Given the description of an element on the screen output the (x, y) to click on. 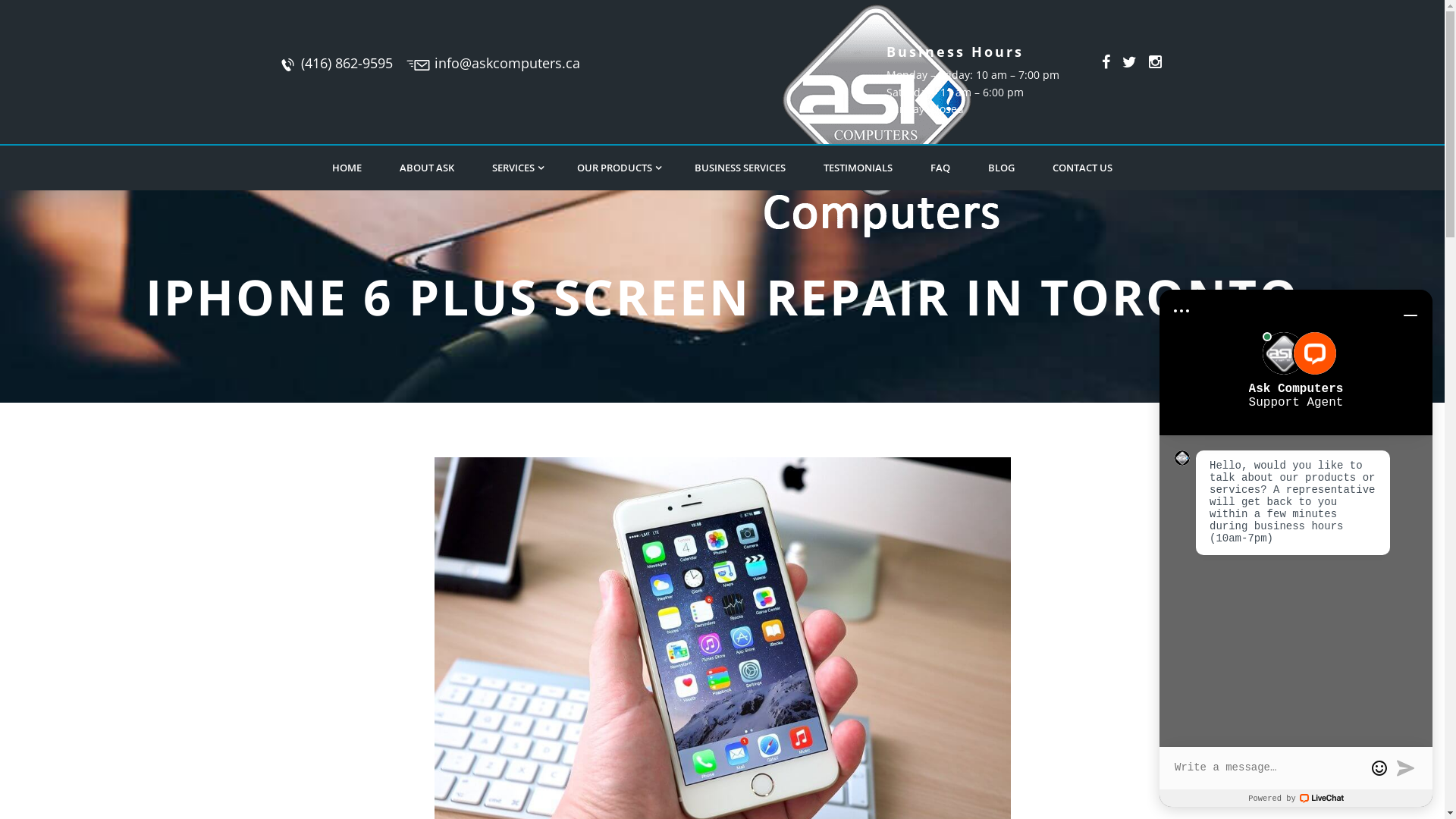
ABOUT ASK Element type: text (426, 167)
(416) 862-9595 Element type: text (346, 62)
CONTACT US Element type: text (1082, 167)
SERVICES Element type: text (515, 167)
HOME Element type: text (346, 167)
info@askcomputers.ca Element type: text (507, 62)
OUR PRODUCTS Element type: text (616, 167)
BUSINESS SERVICES Element type: text (739, 167)
FAQ Element type: text (940, 167)
TESTIMONIALS Element type: text (857, 167)
BLOG Element type: text (1001, 167)
